Given the description of an element on the screen output the (x, y) to click on. 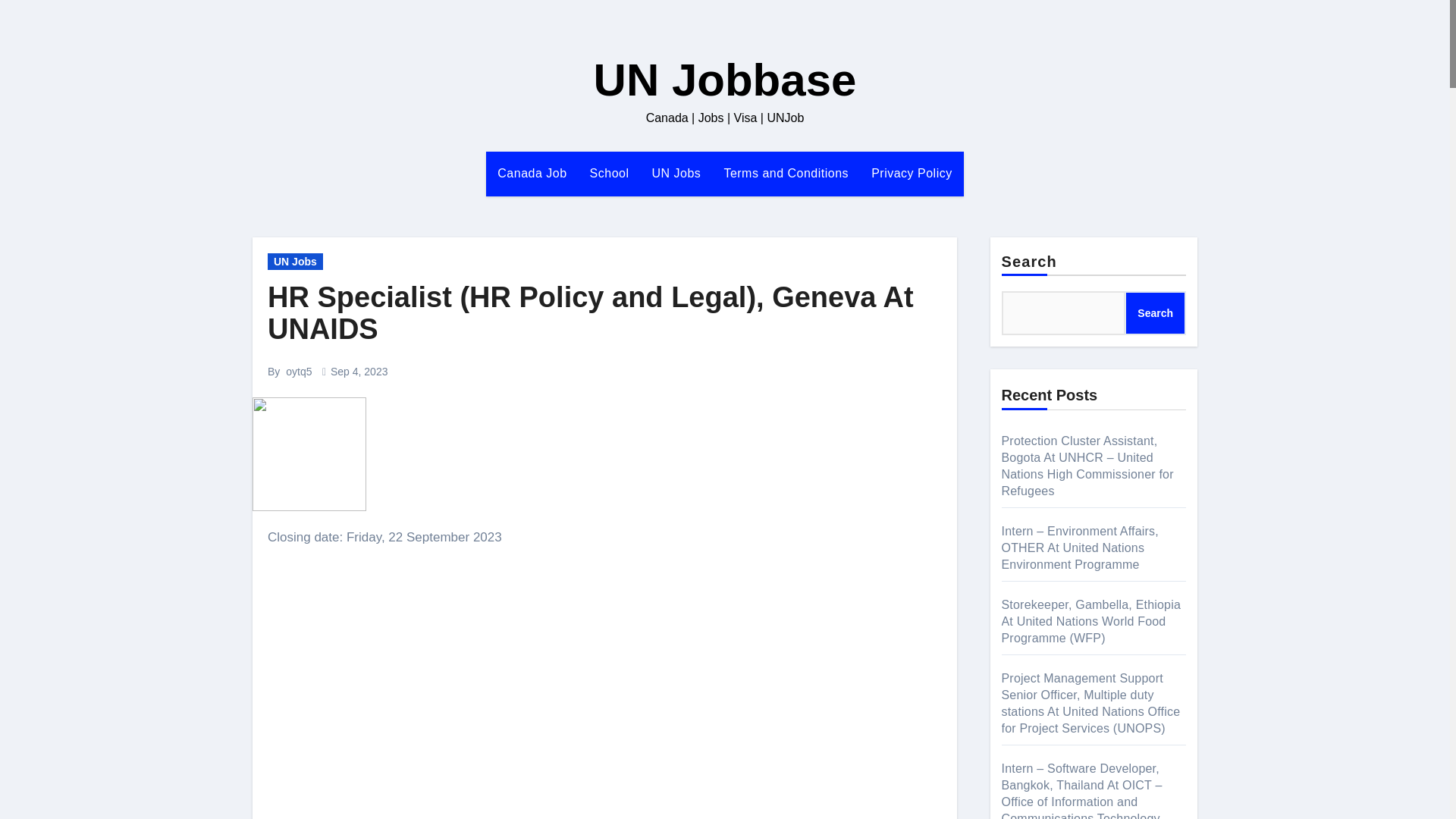
Privacy Policy (911, 173)
Privacy Policy (911, 173)
School (609, 173)
Terms and Conditions (785, 173)
UN Jobs (676, 173)
UN Jobs (295, 261)
School (609, 173)
Terms and Conditions (785, 173)
Canada Job (532, 173)
UN Jobbase (725, 79)
